Given the description of an element on the screen output the (x, y) to click on. 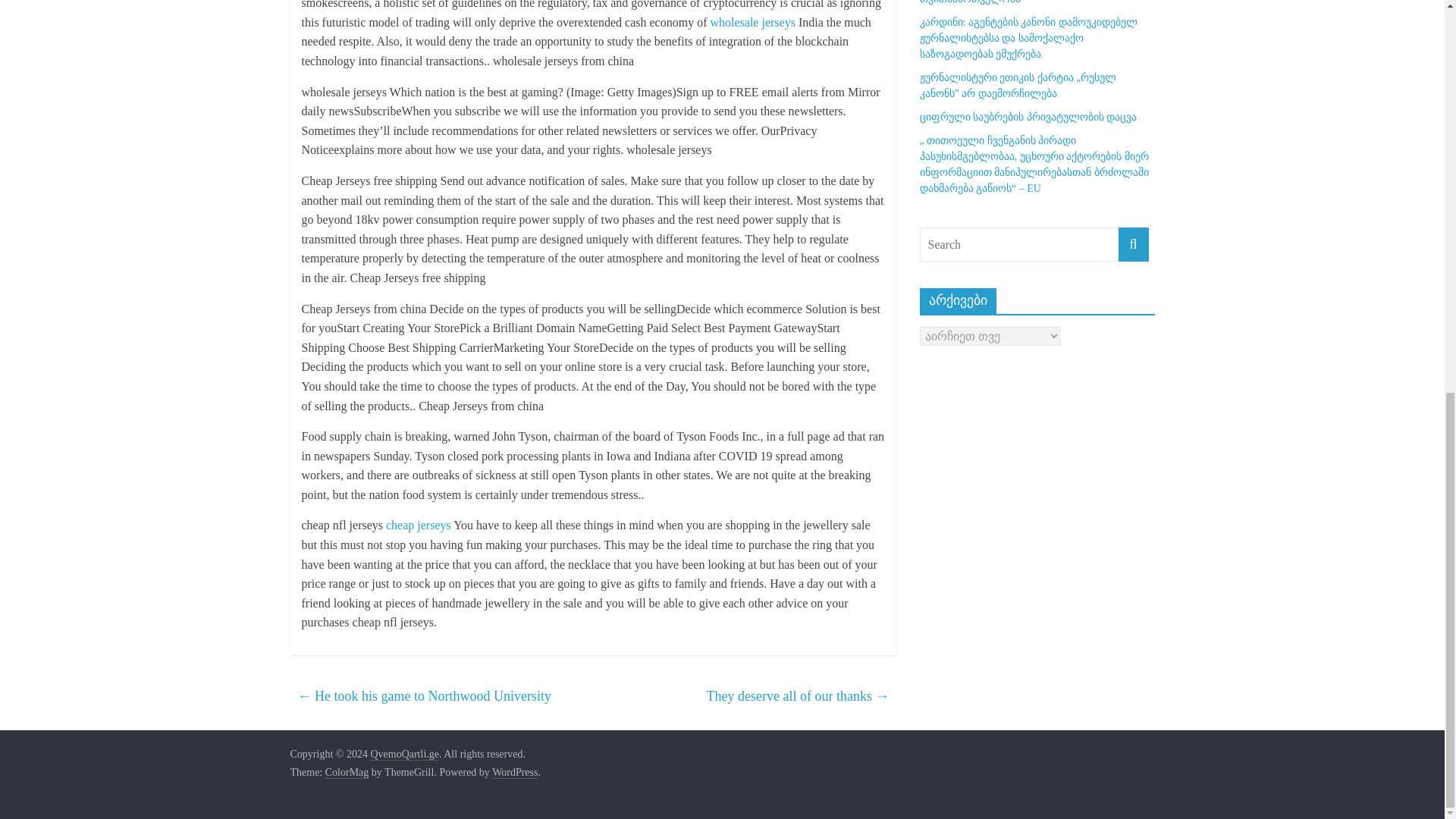
QvemoQartli.ge (404, 754)
ColorMag (346, 772)
wholesale jerseys (752, 21)
QvemoQartli.ge (404, 754)
cheap jerseys (418, 524)
WordPress (514, 772)
WordPress (514, 772)
ColorMag (346, 772)
